Given the description of an element on the screen output the (x, y) to click on. 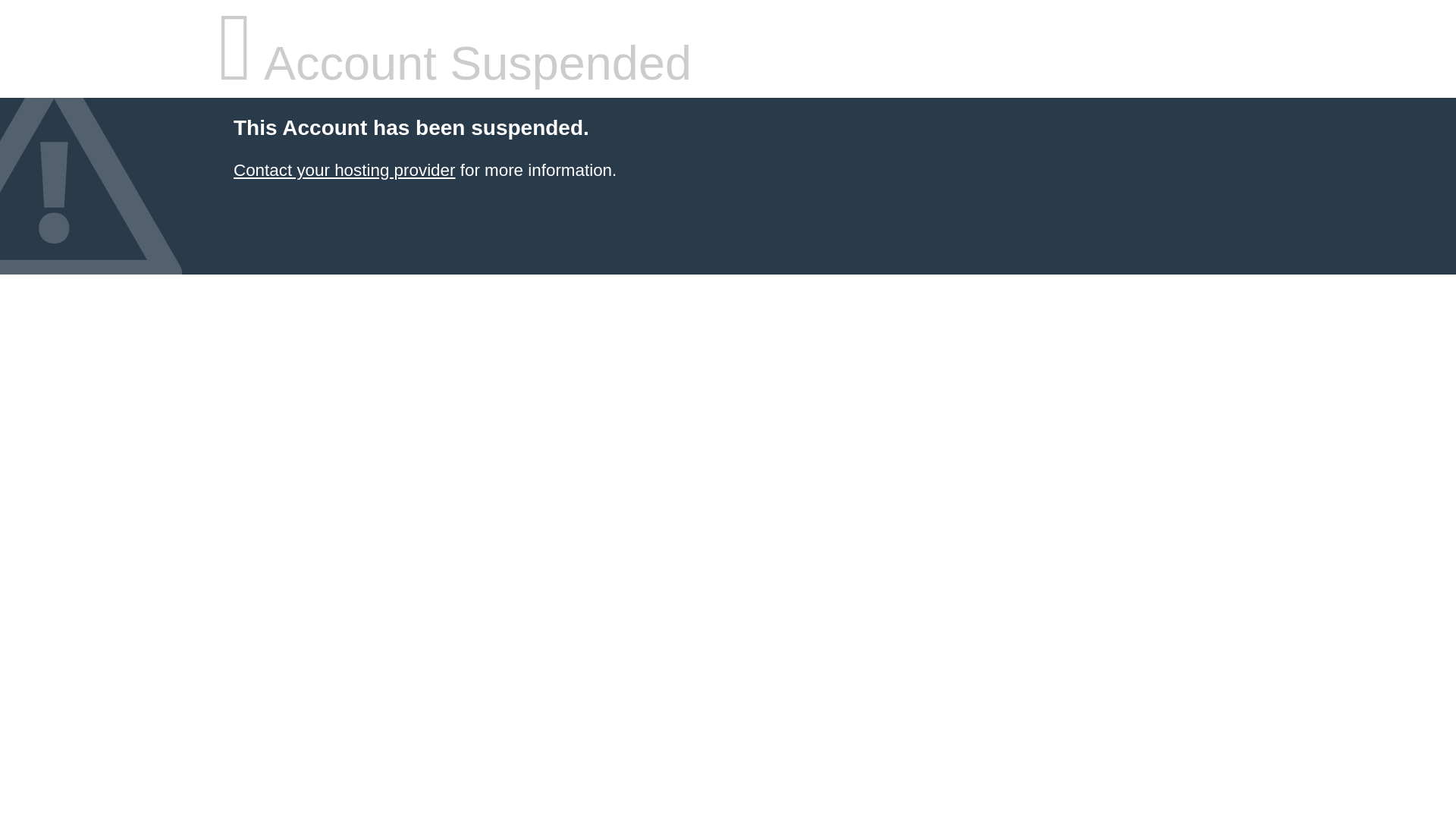
Contact your hosting provider (343, 169)
